Given the description of an element on the screen output the (x, y) to click on. 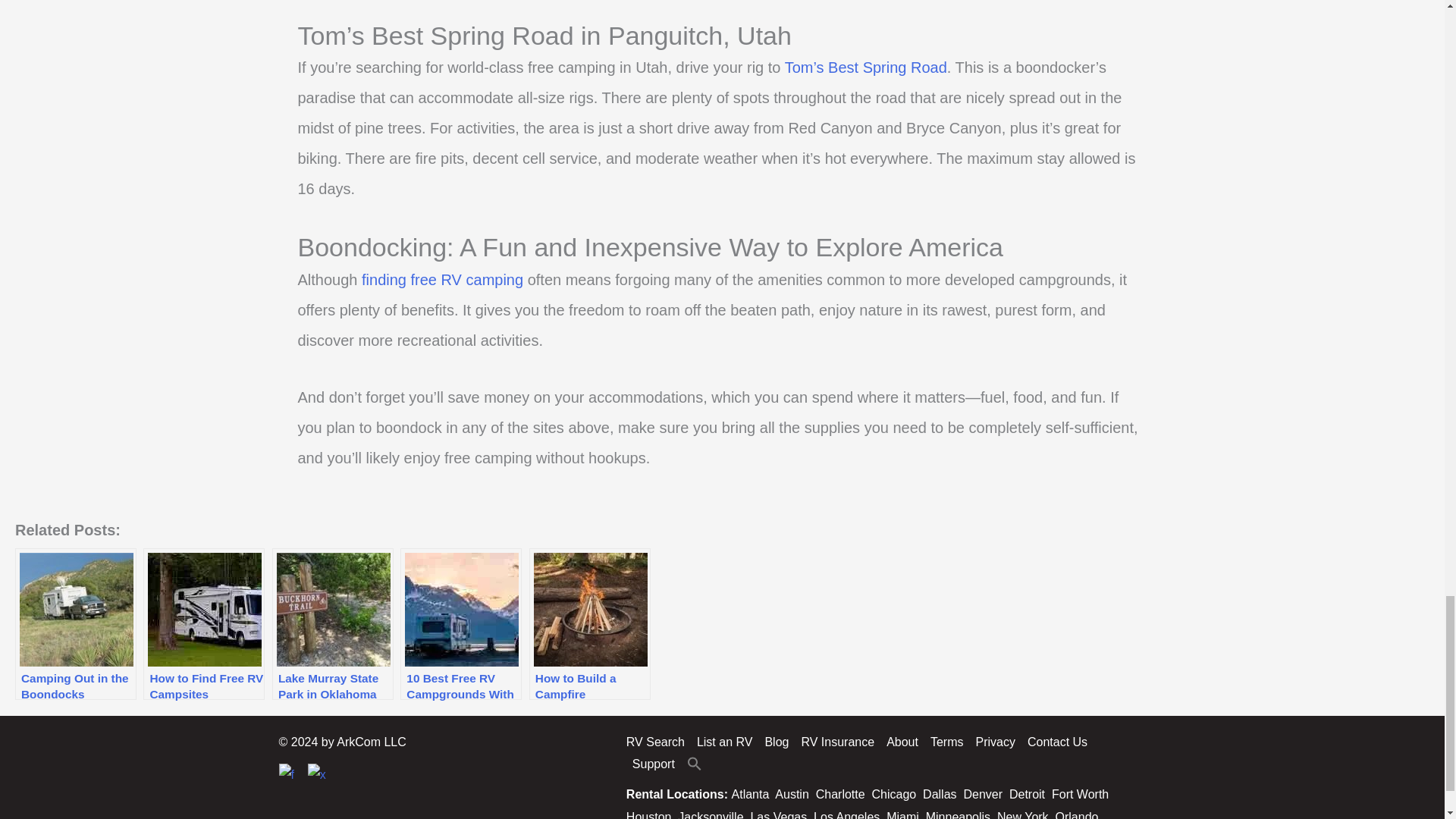
RV Insurance (837, 742)
Las Vegas RV Rental (777, 814)
Dallas RV Rental (939, 793)
Terms (946, 742)
About (902, 742)
List an RV (724, 742)
Fort Worth RV Rental (1079, 793)
RV Search (658, 742)
finding free RV camping (441, 279)
Privacy (994, 742)
